Given the description of an element on the screen output the (x, y) to click on. 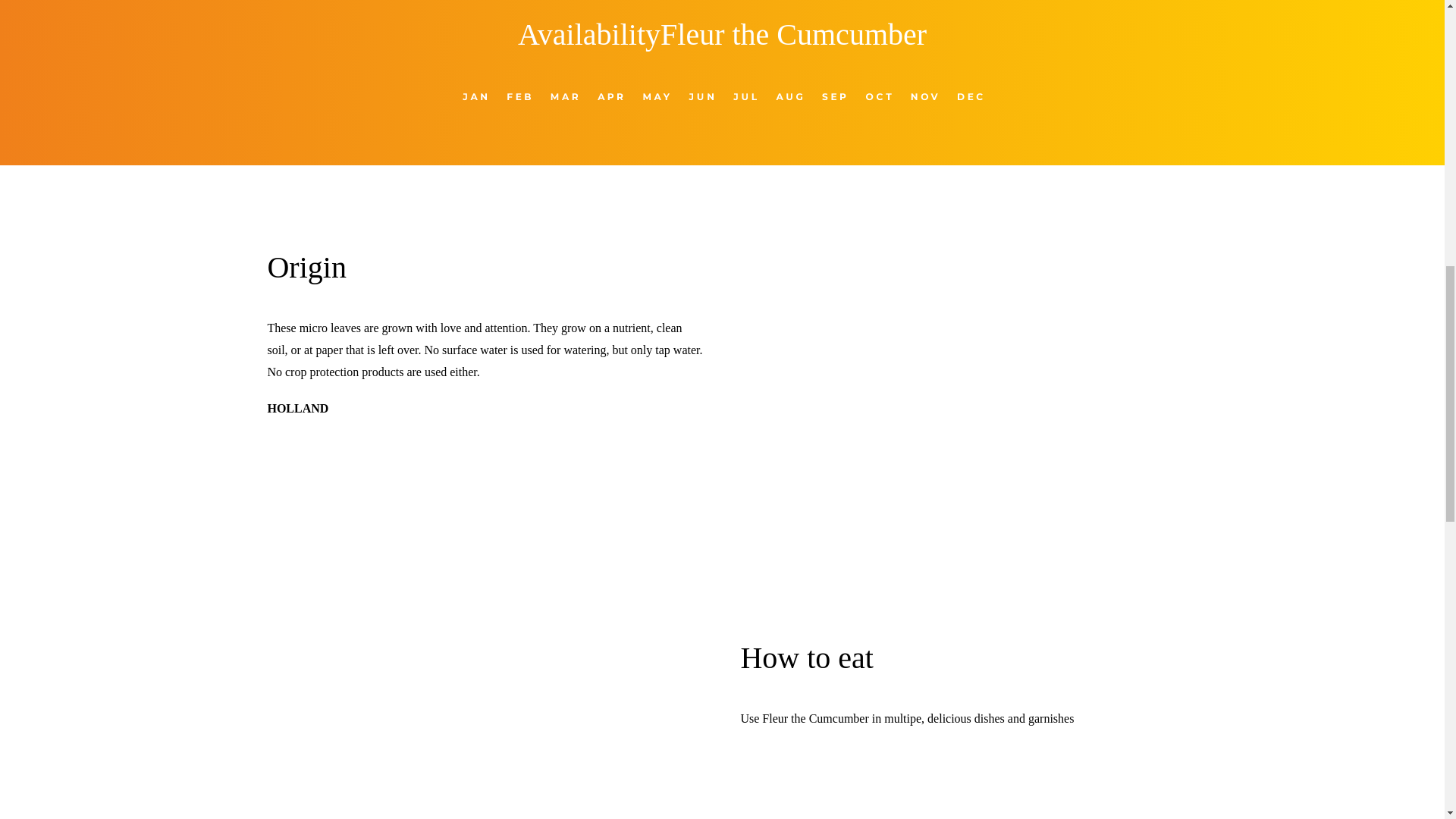
Jaarrond beschikbaar (722, 96)
